Given the description of an element on the screen output the (x, y) to click on. 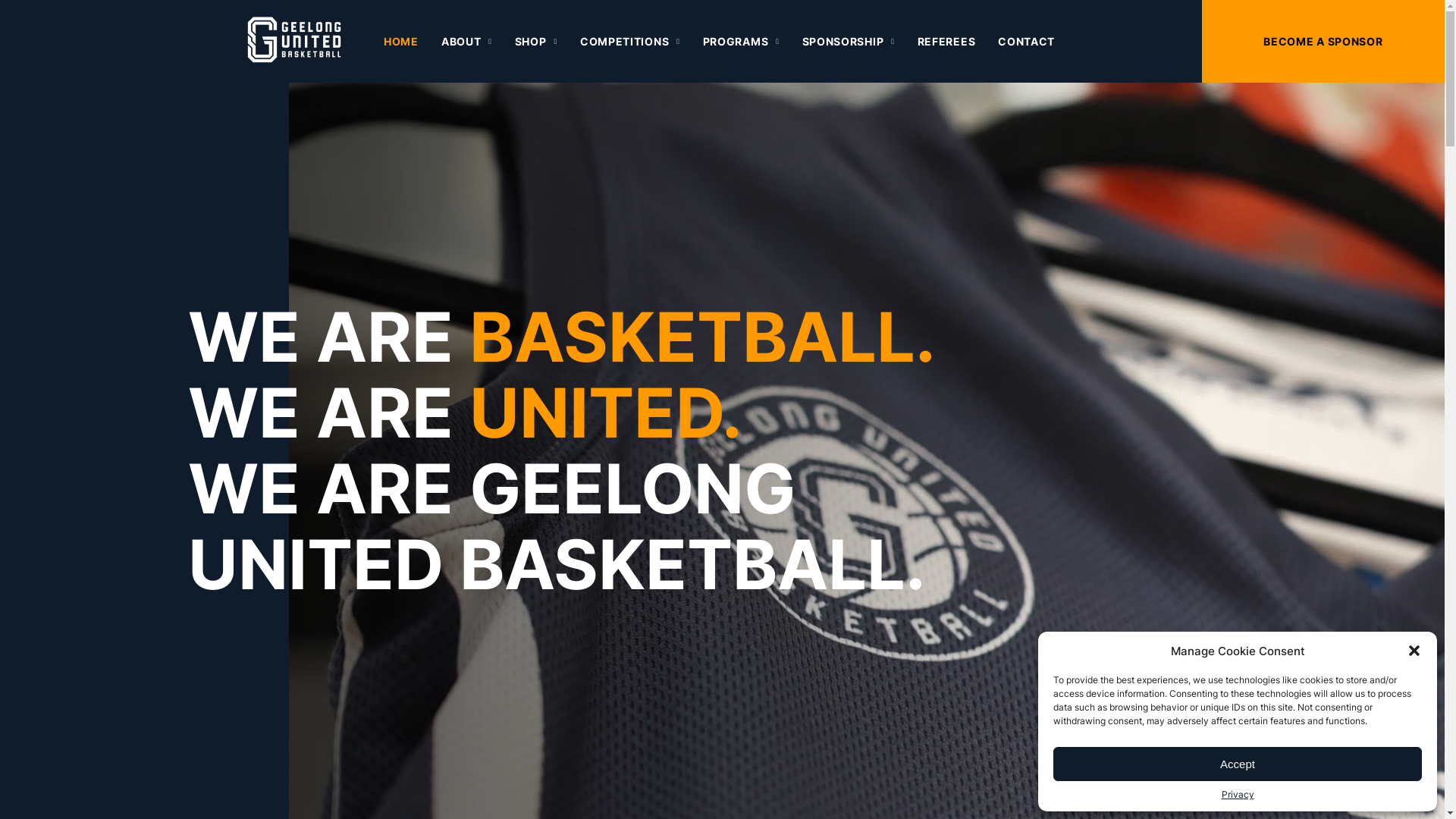
Accept Element type: text (1237, 763)
REFEREES Element type: text (946, 41)
SPONSORSHIP Element type: text (848, 41)
SHOP Element type: text (535, 41)
CONTACT Element type: text (1025, 41)
ABOUT Element type: text (466, 41)
BECOME A SPONSOR Element type: text (1322, 40)
COMPETITIONS Element type: text (630, 41)
Privacy Element type: text (1236, 794)
HOME Element type: text (400, 41)
PROGRAMS Element type: text (740, 41)
